Given the description of an element on the screen output the (x, y) to click on. 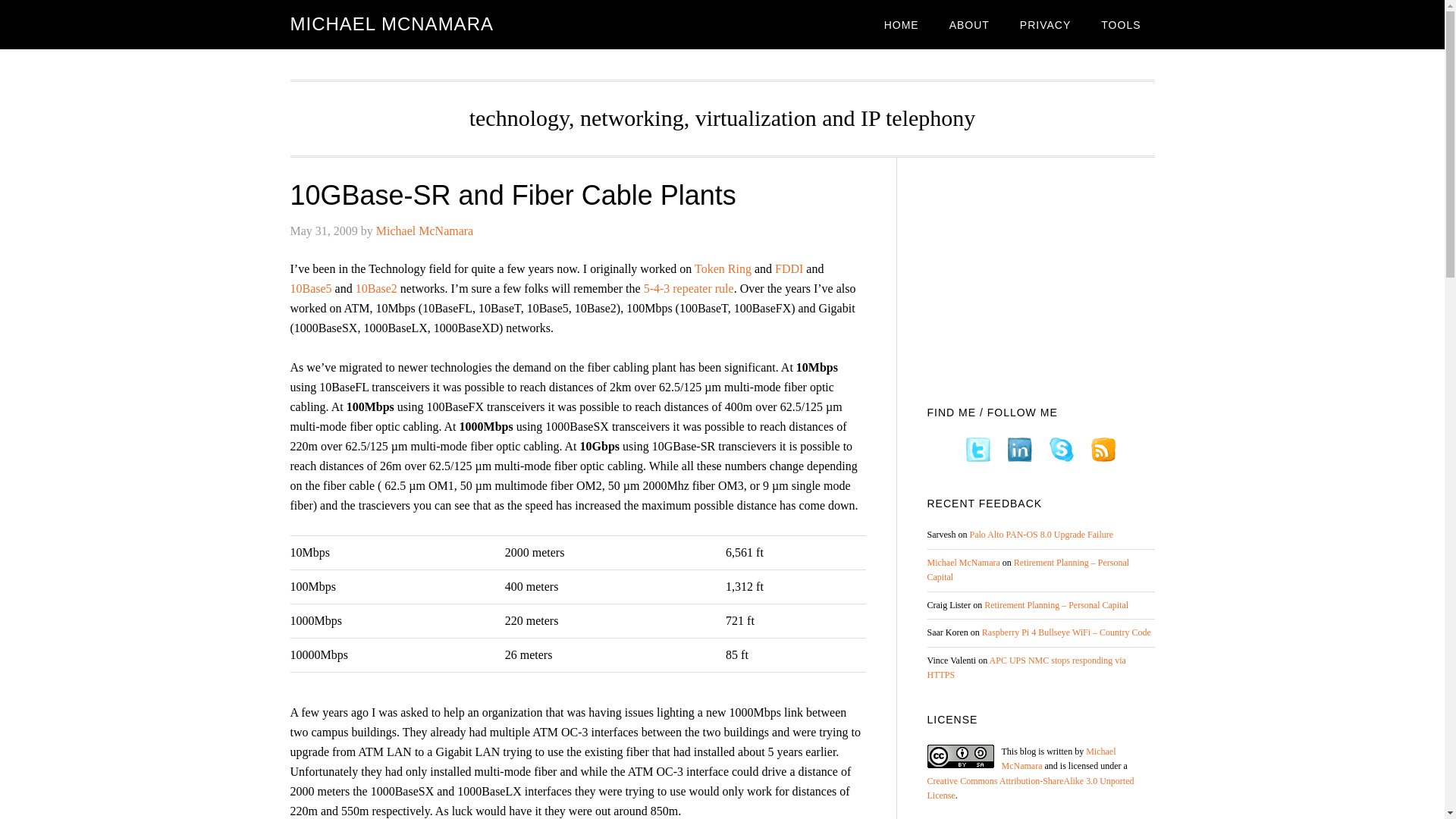
Palo Alto PAN-OS 8.0 Upgrade Failure (1041, 534)
ABOUT (969, 24)
Token Ring (722, 268)
10Base5 (311, 287)
Michael McNamara (962, 562)
FDDI (788, 268)
APC UPS NMC stops responding via HTTPS (1025, 667)
MICHAEL MCNAMARA (391, 23)
Advertisement (1040, 276)
10Base2 (376, 287)
Michael McNamara (424, 230)
5-4-3 repeater rule (688, 287)
PRIVACY (1045, 24)
HOME (901, 24)
TOOLS (1120, 24)
